Given the description of an element on the screen output the (x, y) to click on. 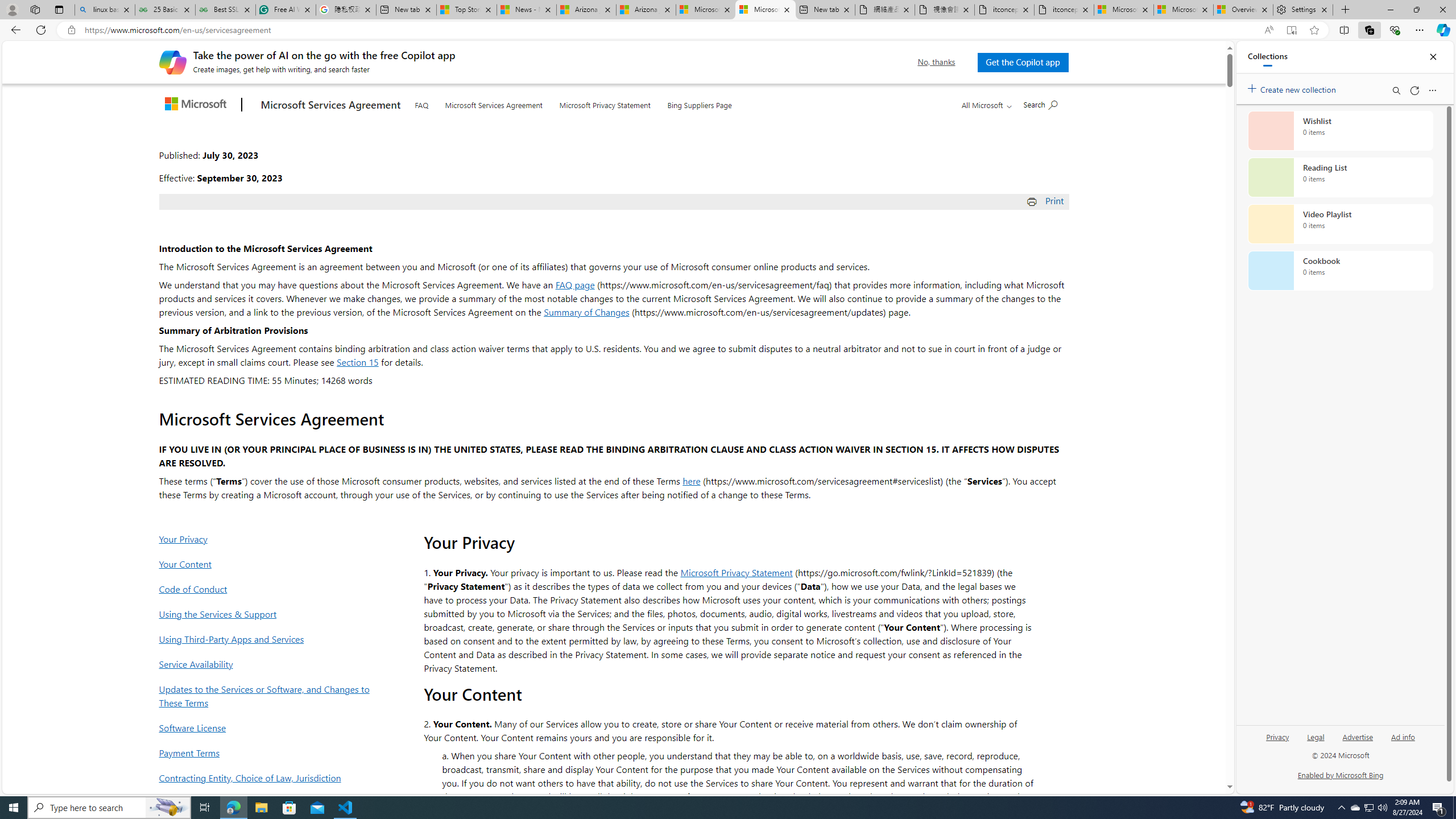
Search Microsoft.com (1039, 103)
Bing Suppliers Page (699, 103)
News - MSN (527, 9)
More options menu (1432, 90)
Payment Terms (267, 752)
Video Playlist collection, 0 items (1339, 223)
here (691, 480)
No, thanks (936, 62)
Code of Conduct (267, 588)
